Given the description of an element on the screen output the (x, y) to click on. 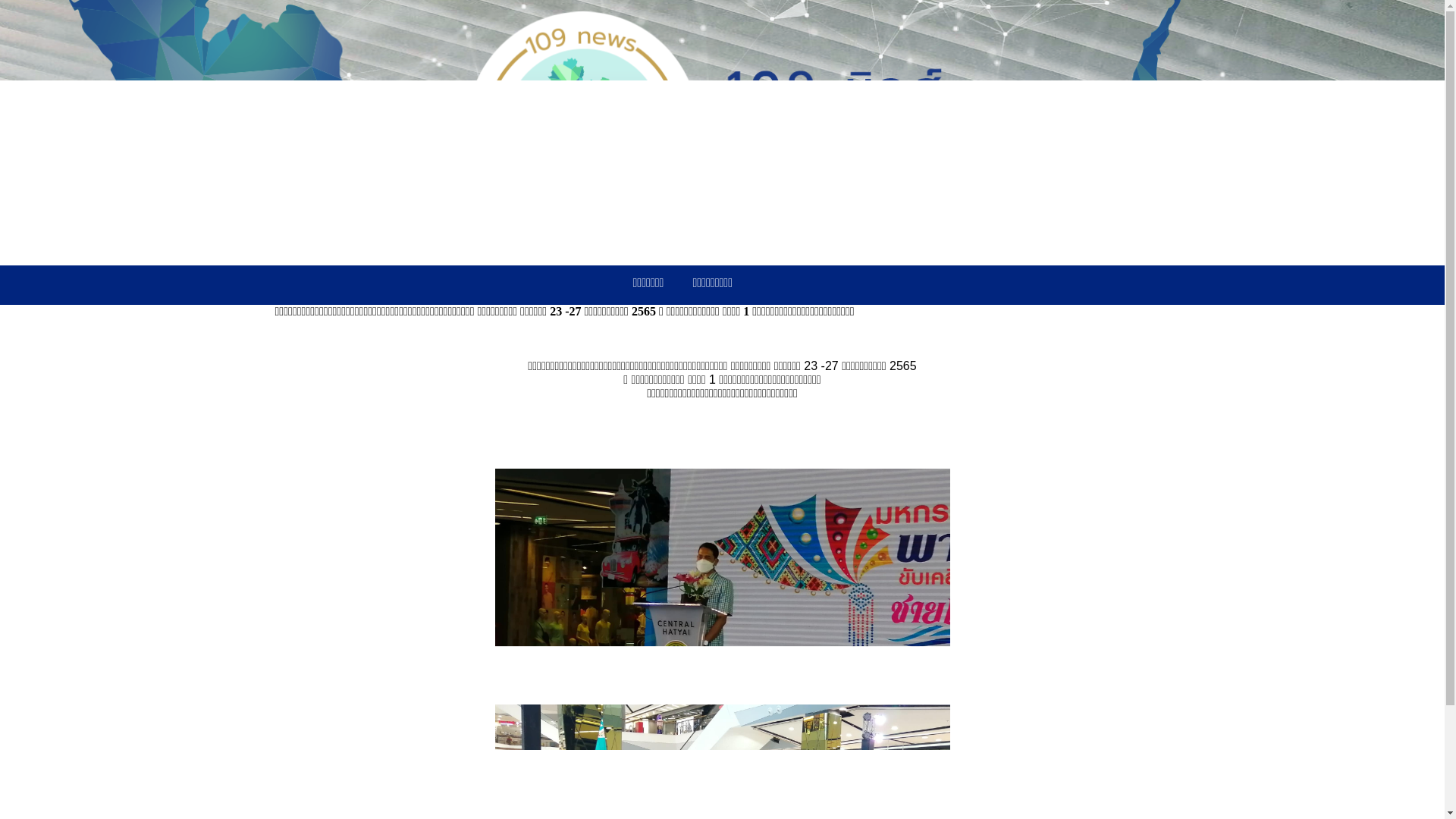
109News  Element type: hover (722, 131)
